Given the description of an element on the screen output the (x, y) to click on. 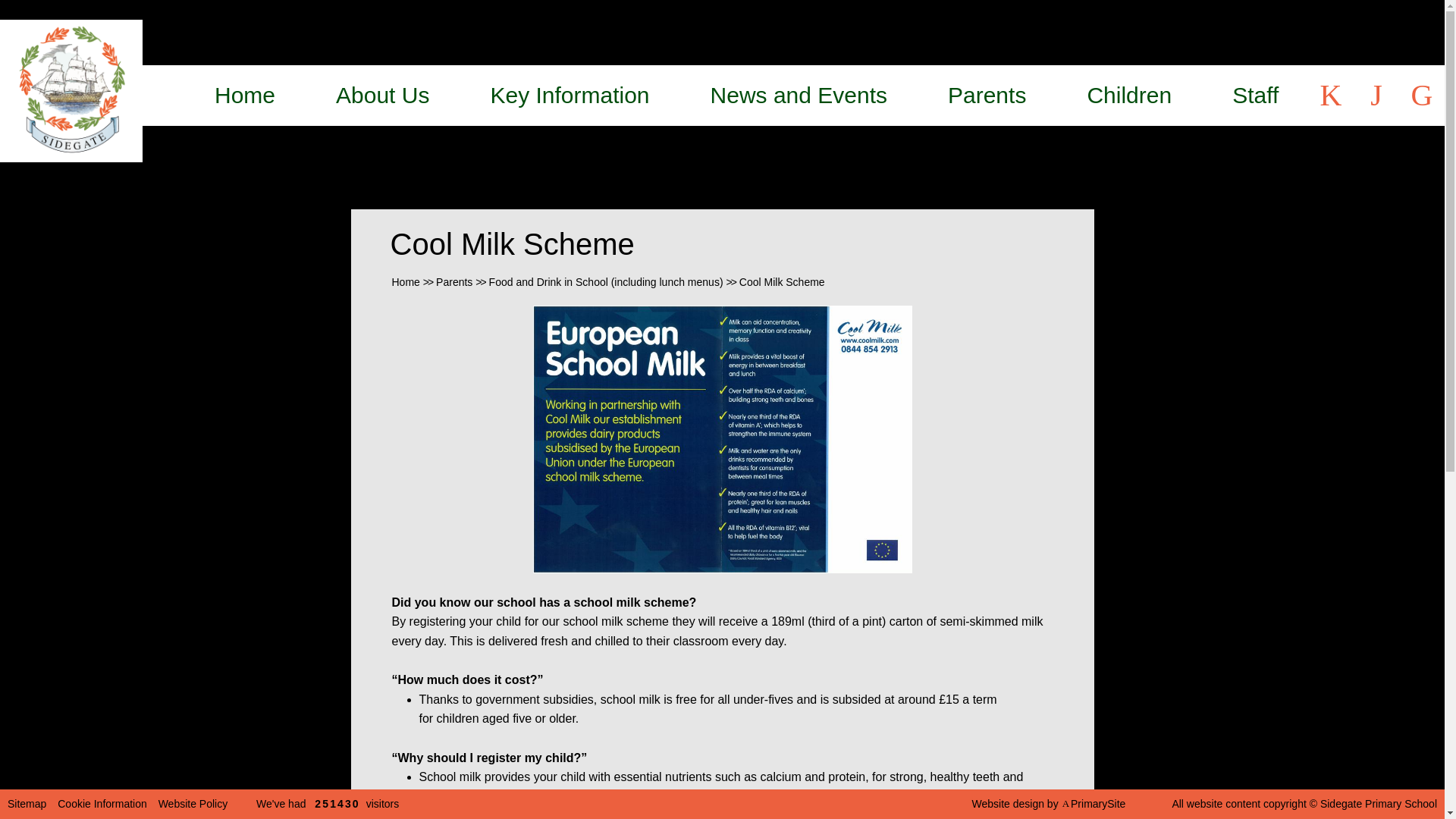
Home (244, 95)
Key Information (569, 95)
About Us (382, 95)
Home Page (71, 90)
